Given the description of an element on the screen output the (x, y) to click on. 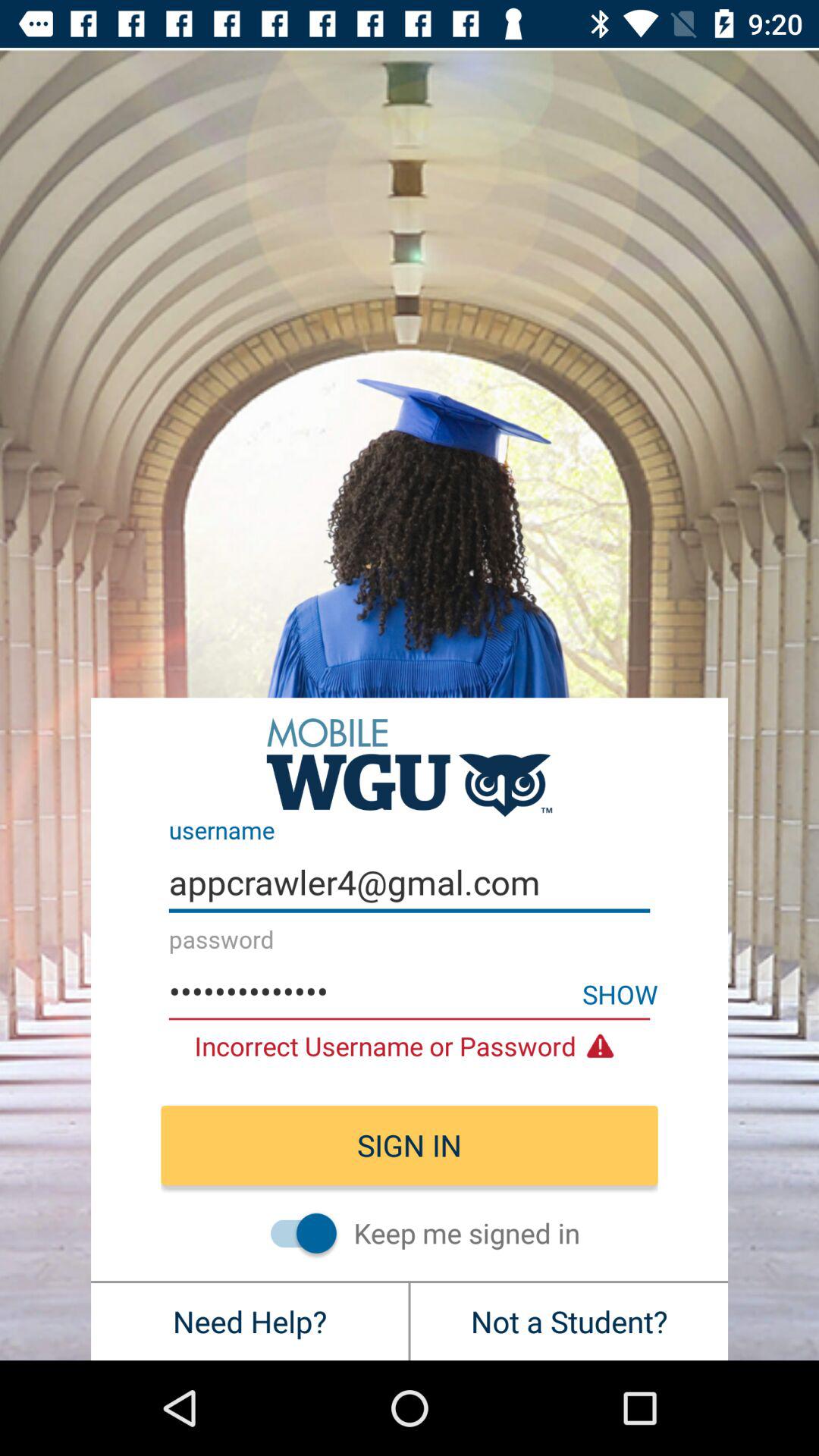
tap item below appcrawler4@gmal.com (409, 991)
